Given the description of an element on the screen output the (x, y) to click on. 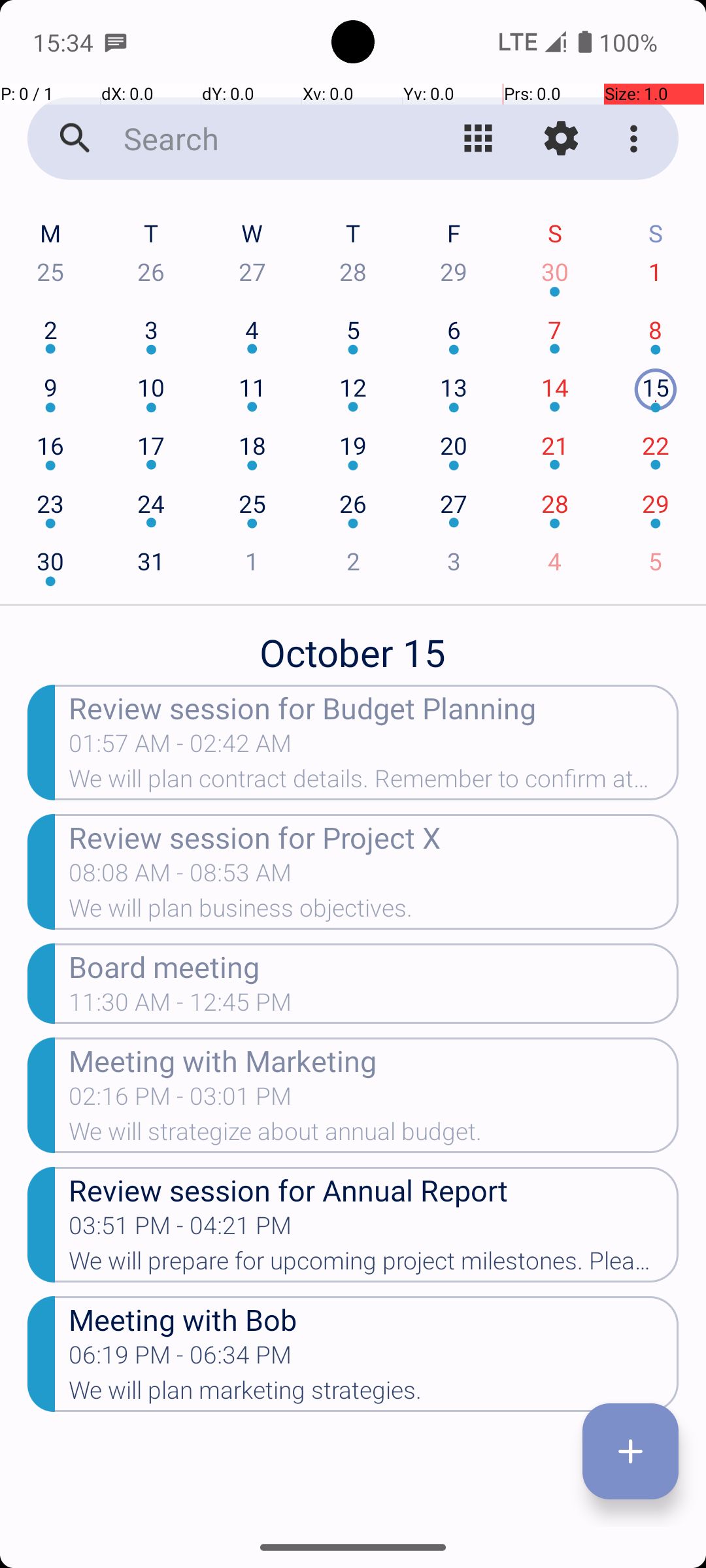
October 15 Element type: android.widget.TextView (352, 644)
01:57 AM - 02:42 AM Element type: android.widget.TextView (254, 747)
We will plan contract details. Remember to confirm attendance. Element type: android.widget.TextView (373, 782)
08:08 AM - 08:53 AM Element type: android.widget.TextView (179, 876)
We will plan business objectives. Element type: android.widget.TextView (373, 911)
Board meeting Element type: android.widget.TextView (373, 965)
11:30 AM - 12:45 PM Element type: android.widget.TextView (179, 1005)
02:16 PM - 03:01 PM Element type: android.widget.TextView (179, 1099)
We will strategize about annual budget. Element type: android.widget.TextView (373, 1135)
03:51 PM - 04:21 PM Element type: android.widget.TextView (179, 1229)
We will prepare for upcoming project milestones. Please bring relevant documents. Element type: android.widget.TextView (373, 1264)
06:19 PM - 06:34 PM Element type: android.widget.TextView (179, 1358)
We will plan marketing strategies. Element type: android.widget.TextView (373, 1393)
